Given the description of an element on the screen output the (x, y) to click on. 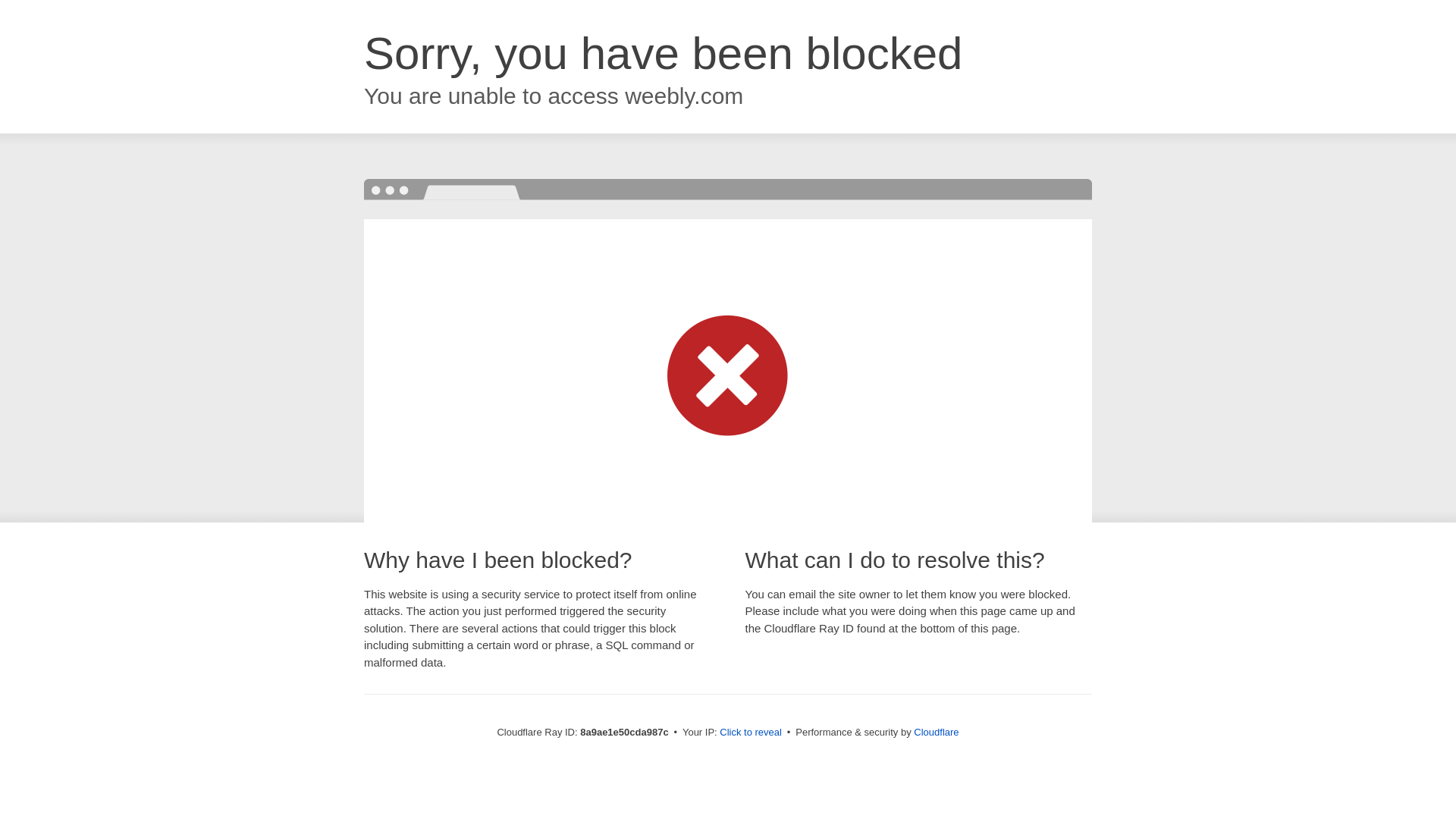
Click to reveal (750, 732)
Cloudflare (936, 731)
